Given the description of an element on the screen output the (x, y) to click on. 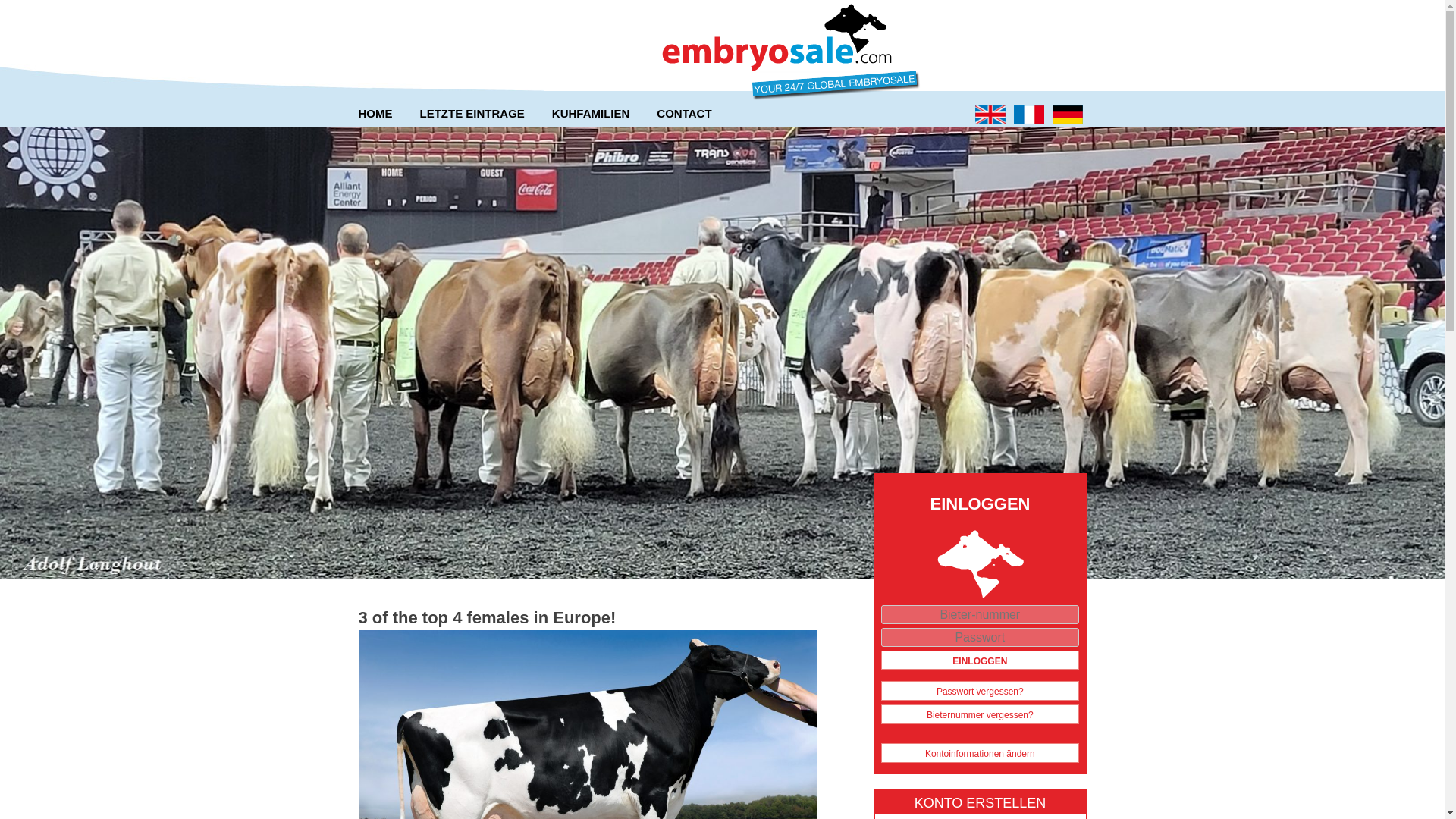
CONTACT (684, 113)
KUHFAMILIEN (590, 113)
EINLOGGEN (979, 659)
HOME (382, 113)
LETZTE EINTRAGE (472, 113)
